Given the description of an element on the screen output the (x, y) to click on. 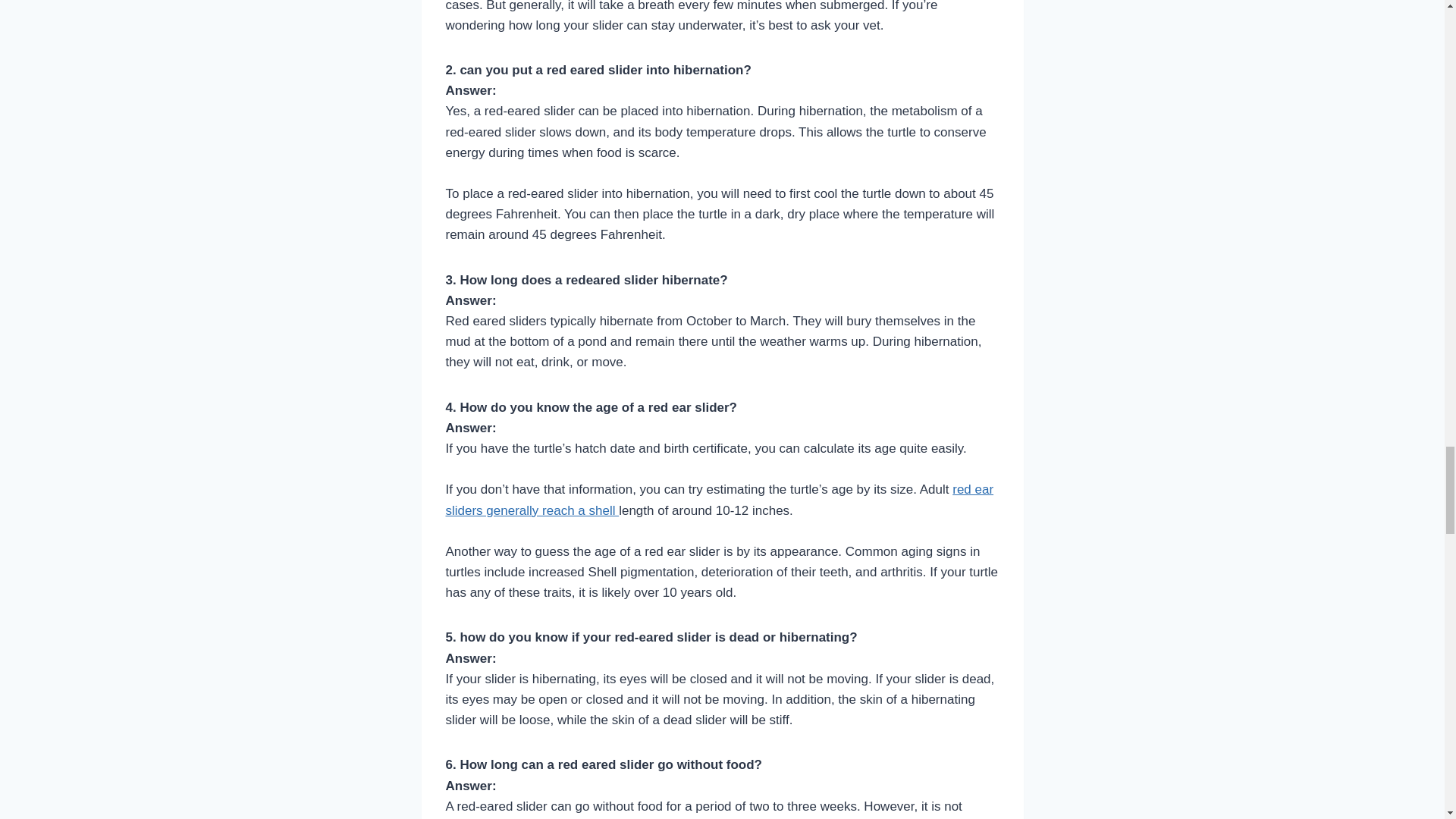
red ear sliders generally reach a shell  (719, 499)
